Given the description of an element on the screen output the (x, y) to click on. 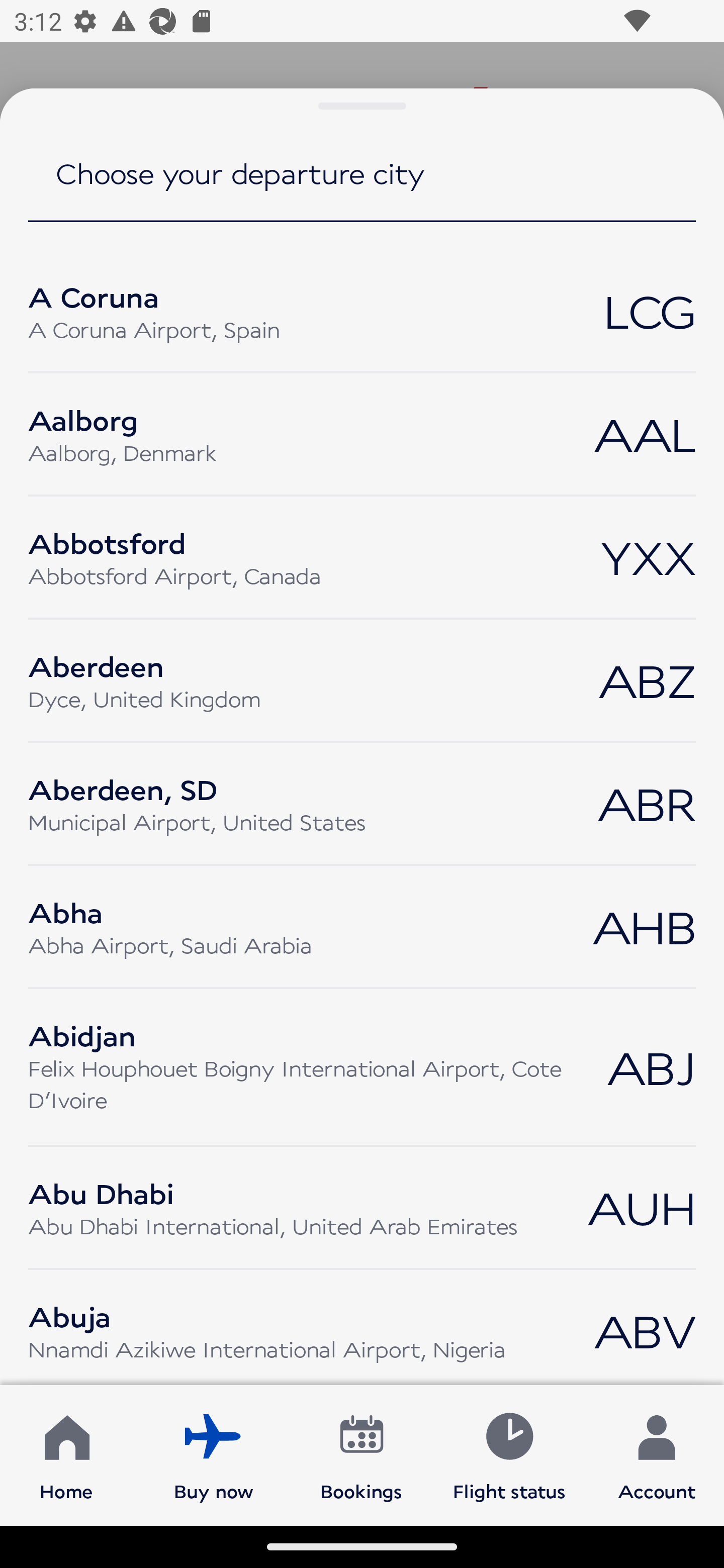
Choose your departure city (361, 186)
A Coruna A Coruna Airport, Spain LCG (361, 310)
Aalborg Aalborg, Denmark AAL (361, 434)
Abbotsford Abbotsford Airport, Canada YXX (361, 556)
Aberdeen Dyce, United Kingdom ABZ (361, 680)
Aberdeen, SD Municipal Airport, United States ABR (361, 803)
Abha Abha Airport, Saudi Arabia AHB (361, 926)
Home (66, 1454)
Bookings (361, 1454)
Flight status (509, 1454)
Account (657, 1454)
